Given the description of an element on the screen output the (x, y) to click on. 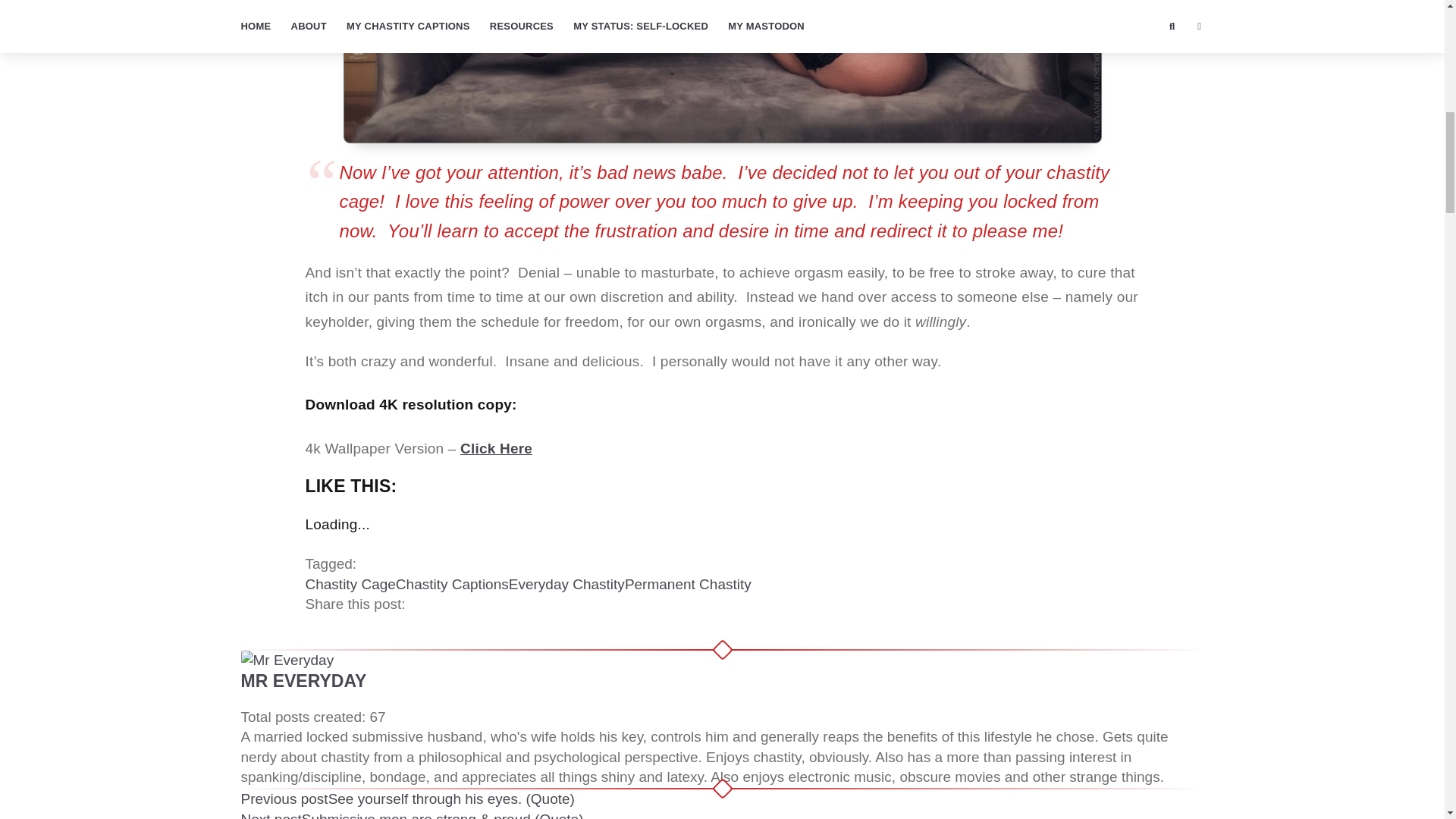
Everyday Chastity (566, 584)
Chastity Captions (452, 584)
Chastity Cage (349, 584)
Permanent Chastity (687, 584)
MR EVERYDAY (303, 680)
Click Here (496, 448)
